Given the description of an element on the screen output the (x, y) to click on. 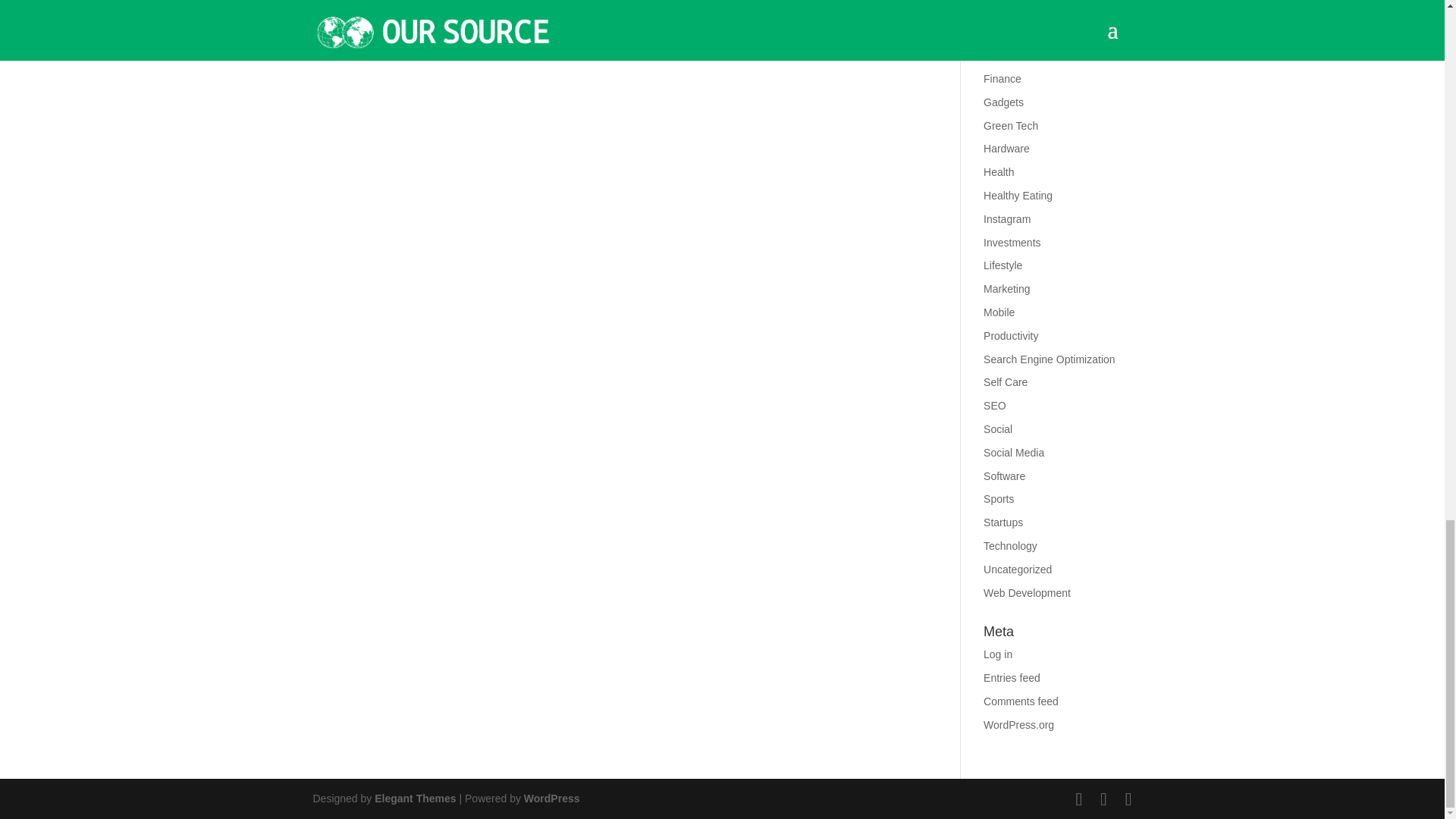
Premium WordPress Themes (414, 798)
